Given the description of an element on the screen output the (x, y) to click on. 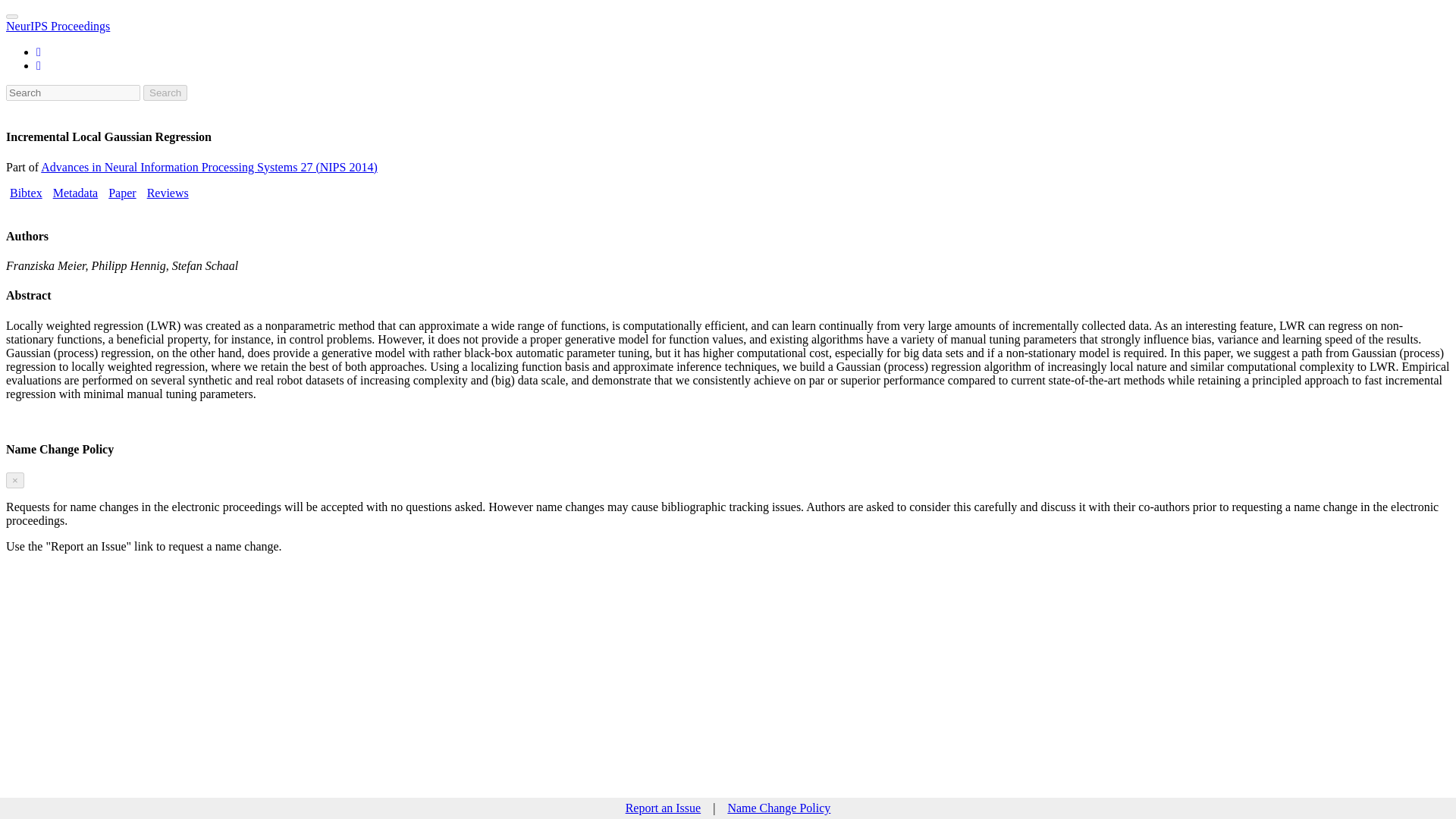
Search (164, 92)
Bibtex (26, 192)
Metadata (75, 192)
NeurIPS Proceedings (57, 25)
Paper (121, 192)
Reviews (168, 192)
